Given the description of an element on the screen output the (x, y) to click on. 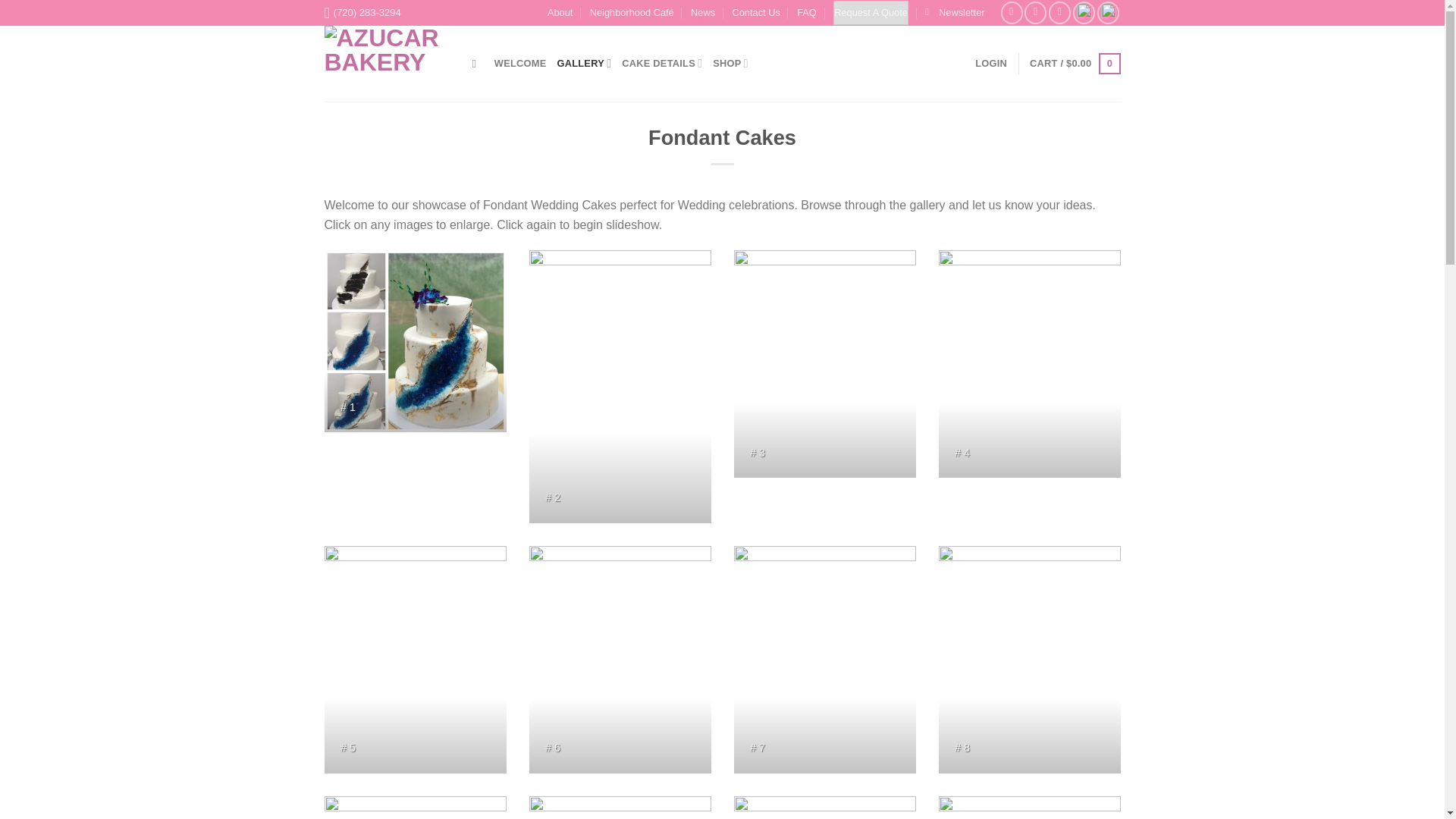
WELCOME (521, 63)
Sign up for Newsletter (954, 12)
Newsletter (954, 12)
Follow on Instagram (1035, 12)
Request A Quote (870, 12)
Contact Us (755, 12)
Follow On The Knot (1108, 12)
GALLERY (583, 63)
Follow On Wedding Wire (1083, 12)
CAKE DETAILS (661, 63)
